Given the description of an element on the screen output the (x, y) to click on. 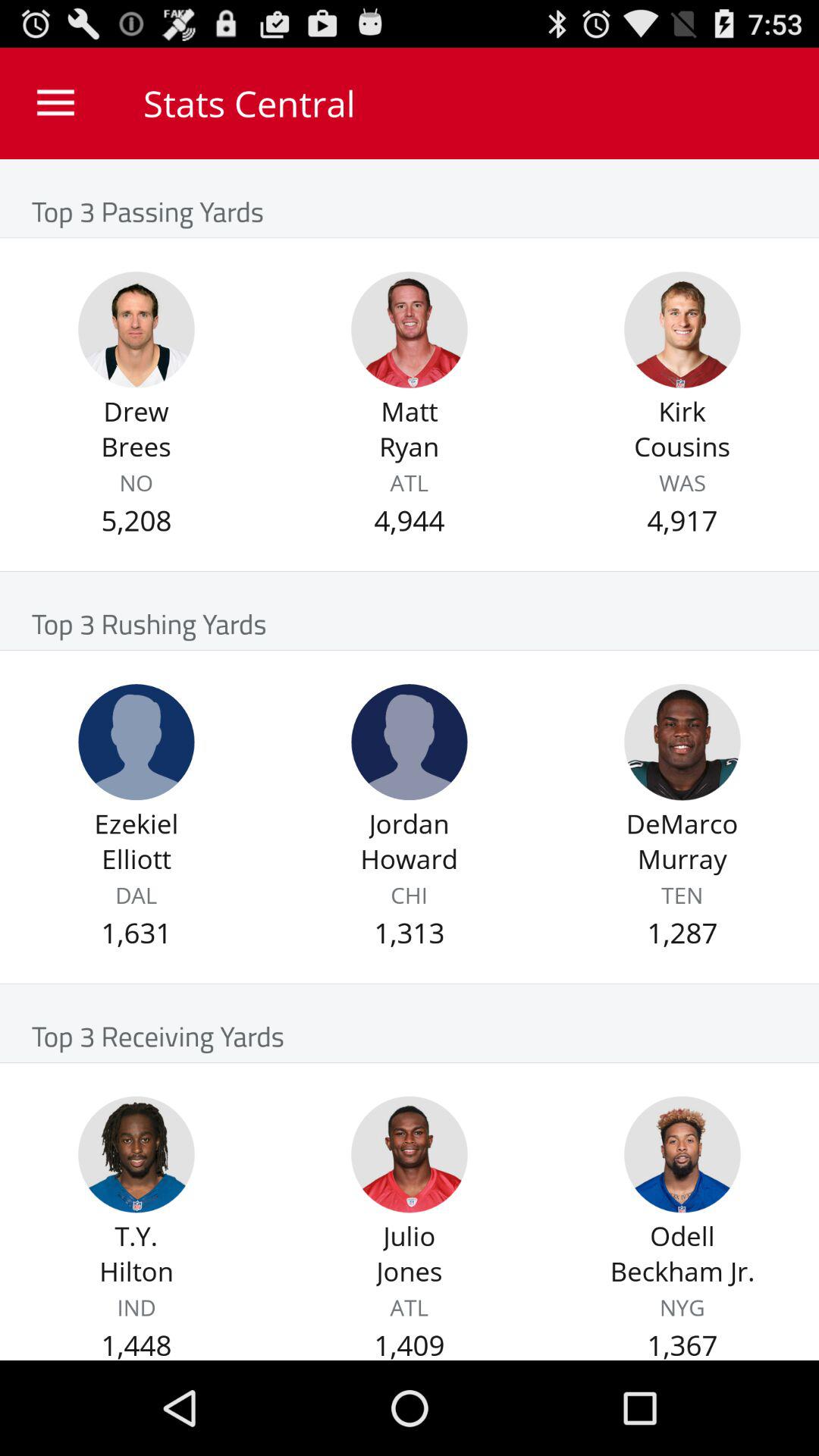
view this player (409, 1154)
